Given the description of an element on the screen output the (x, y) to click on. 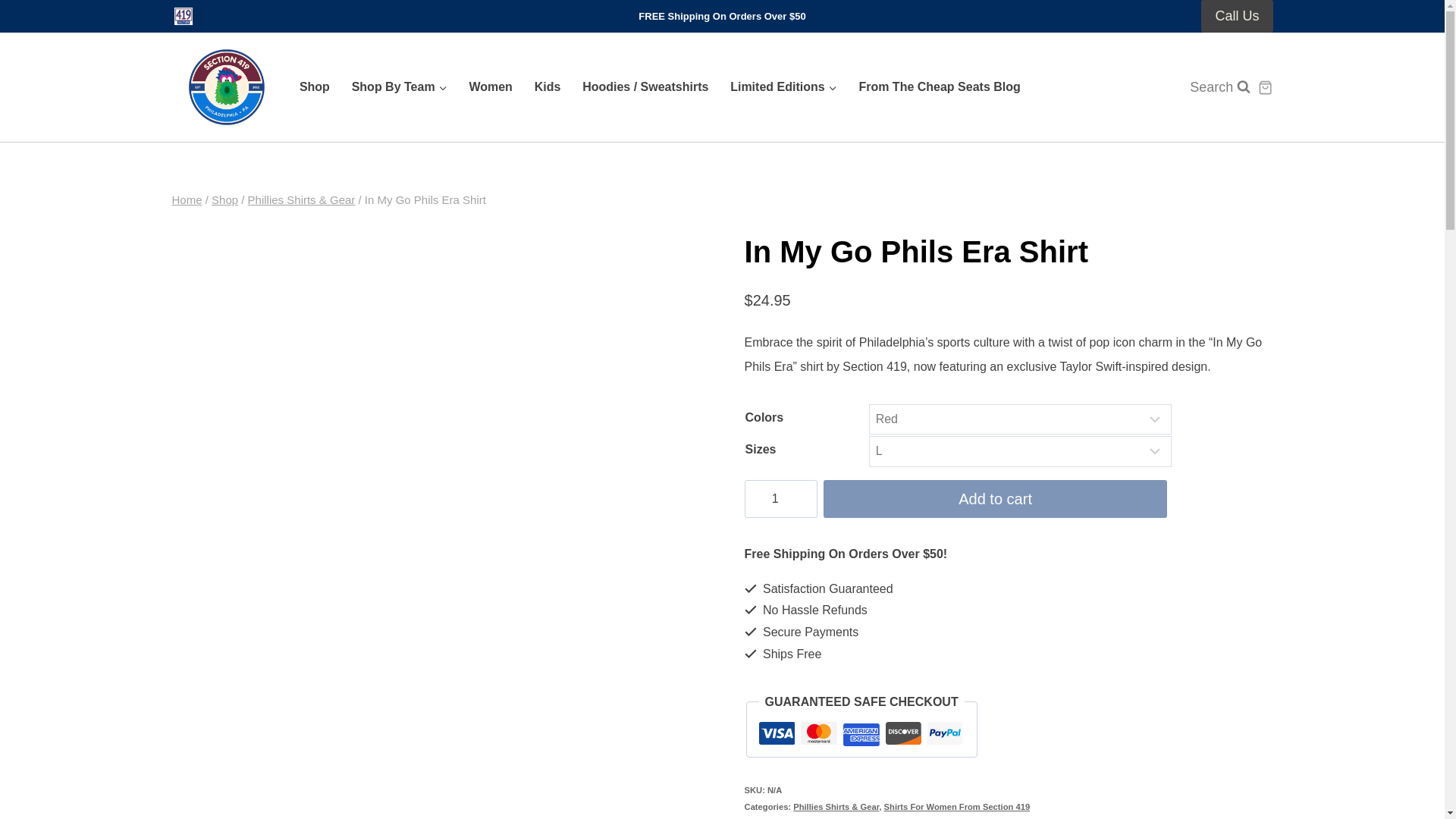
From The Cheap Seats Blog (938, 87)
Shirts For Women From Section 419 (956, 806)
Kids (546, 87)
Limited Editions (783, 87)
1 (781, 498)
Home (186, 199)
Women (490, 87)
Add to cart (995, 498)
Search (1212, 87)
Call Us (1236, 16)
Shop (224, 199)
Shop By Team (399, 87)
Shop (314, 87)
